Given the description of an element on the screen output the (x, y) to click on. 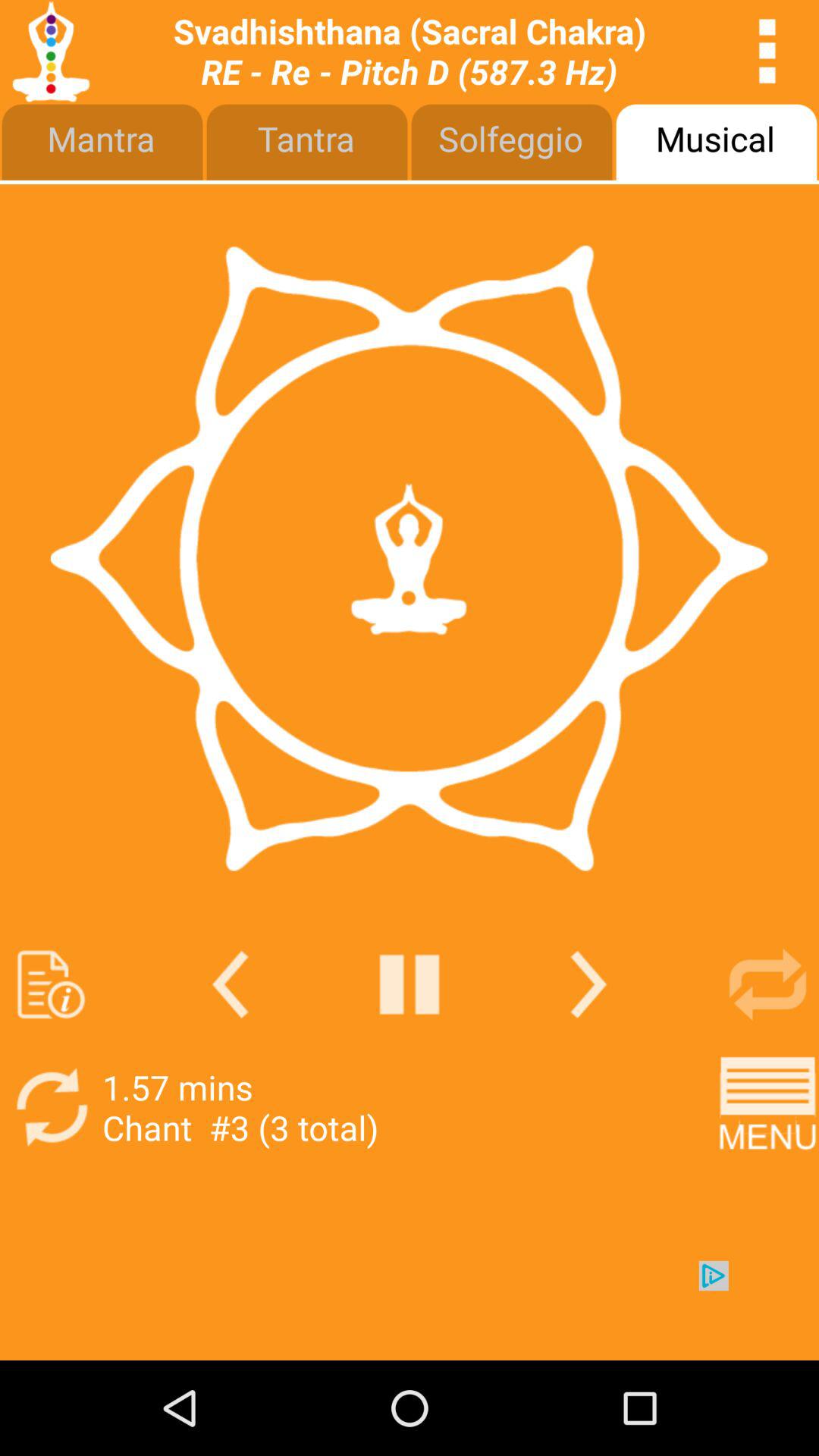
button to know more info (51, 984)
